Given the description of an element on the screen output the (x, y) to click on. 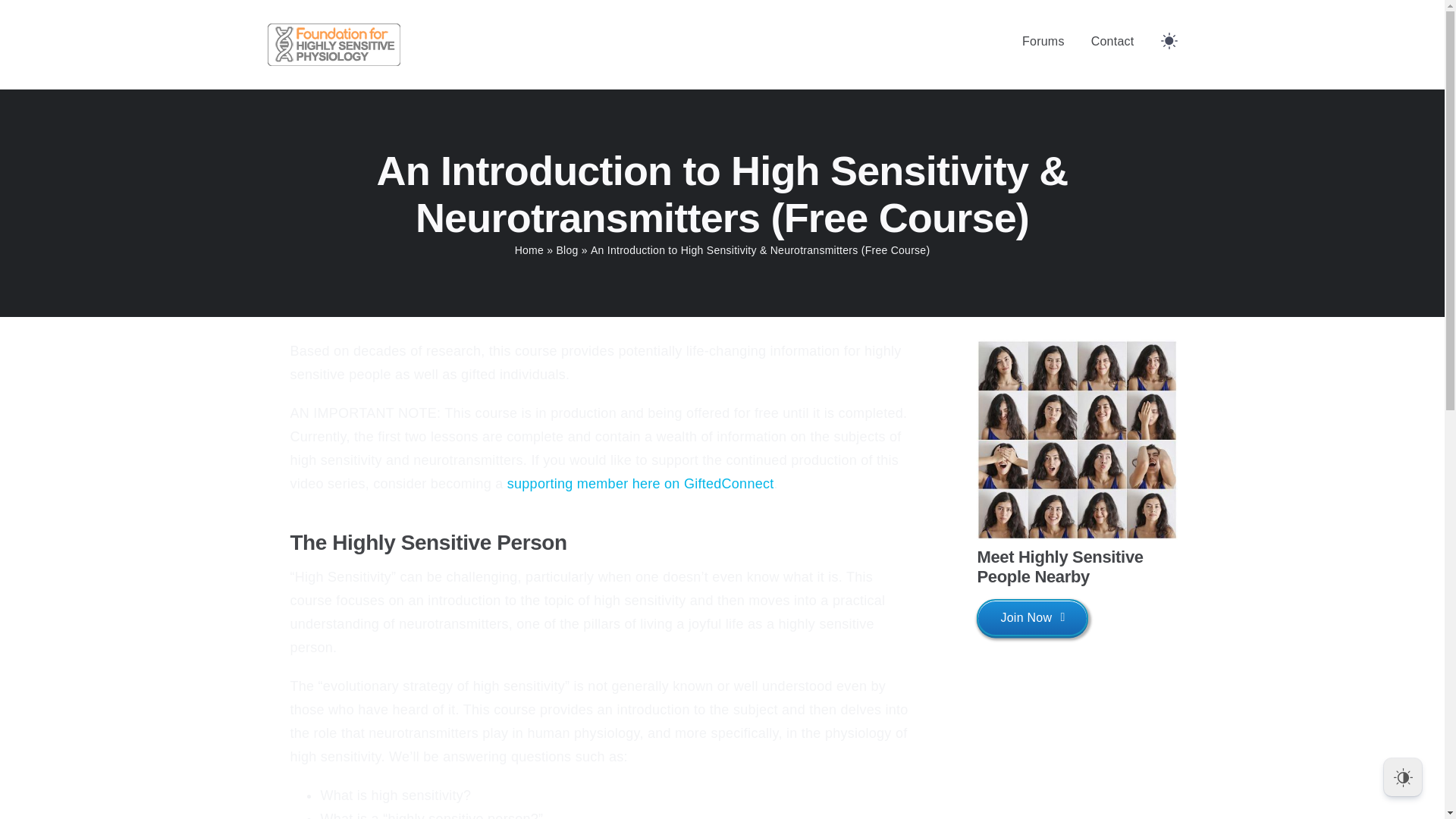
Blog (567, 250)
Home (529, 250)
Meet-Highly-Sensitive-Person-San-Francisco (1076, 439)
supporting member here on GiftedConnect (640, 483)
Join Now (1031, 617)
